Given the description of an element on the screen output the (x, y) to click on. 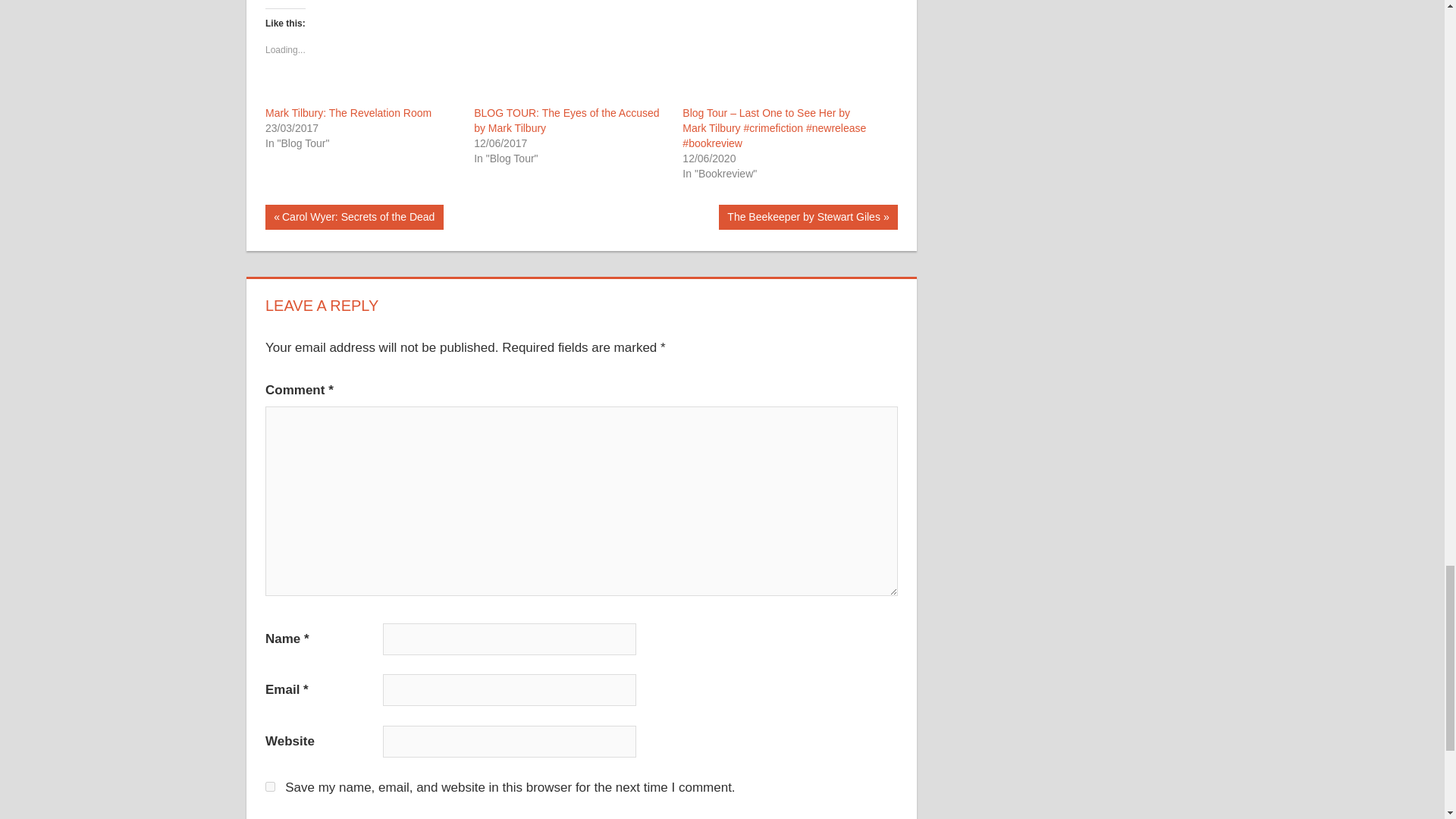
Mark Tilbury: The Revelation Room (808, 217)
BLOG TOUR: The Eyes of the Accused by Mark Tilbury (347, 112)
Mark Tilbury: The Revelation Room (566, 120)
yes (347, 112)
BLOG TOUR: The Eyes of the Accused by Mark Tilbury (354, 217)
